Given the description of an element on the screen output the (x, y) to click on. 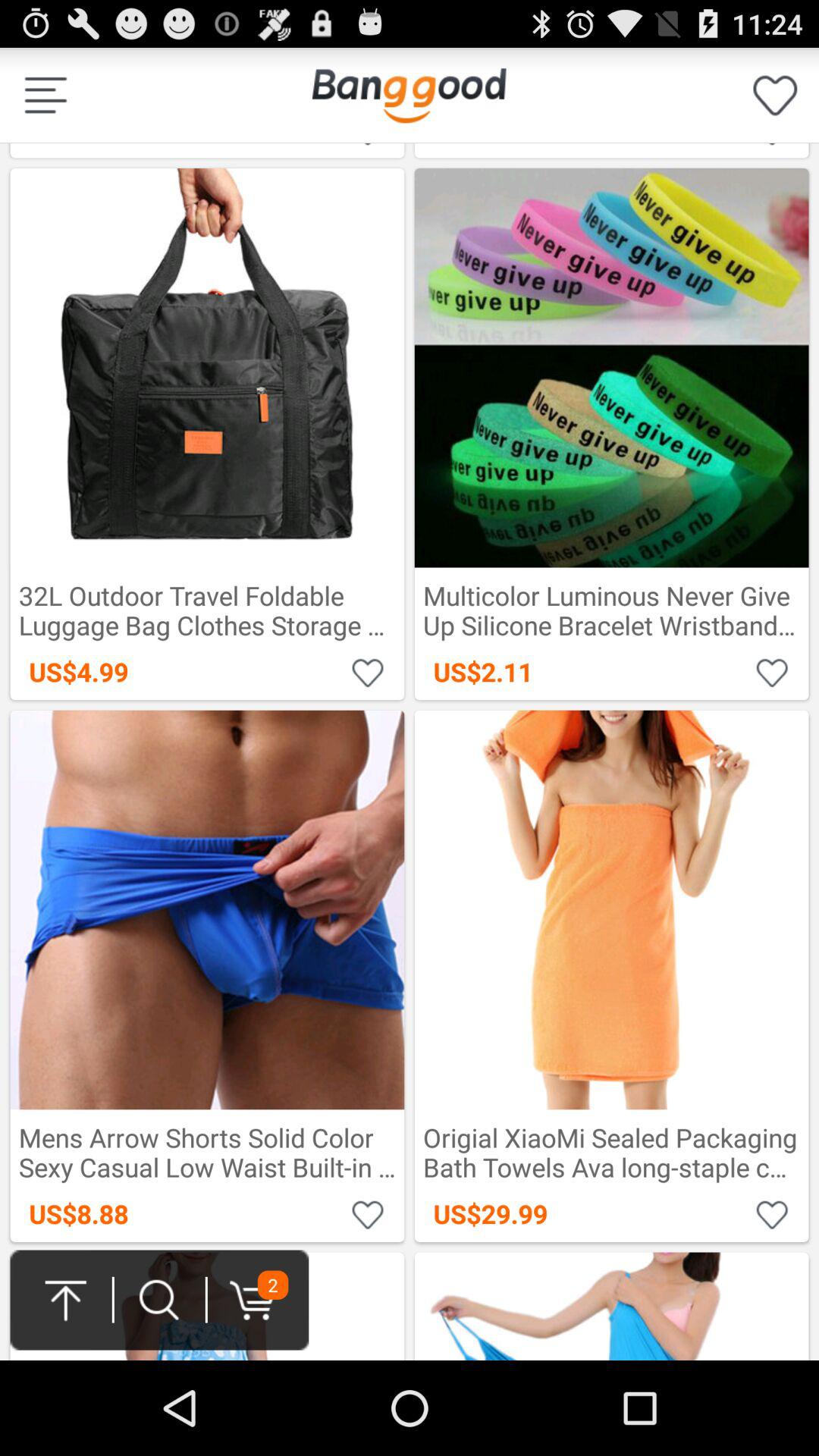
tap icon next to the us$3.09 icon (409, 95)
